Given the description of an element on the screen output the (x, y) to click on. 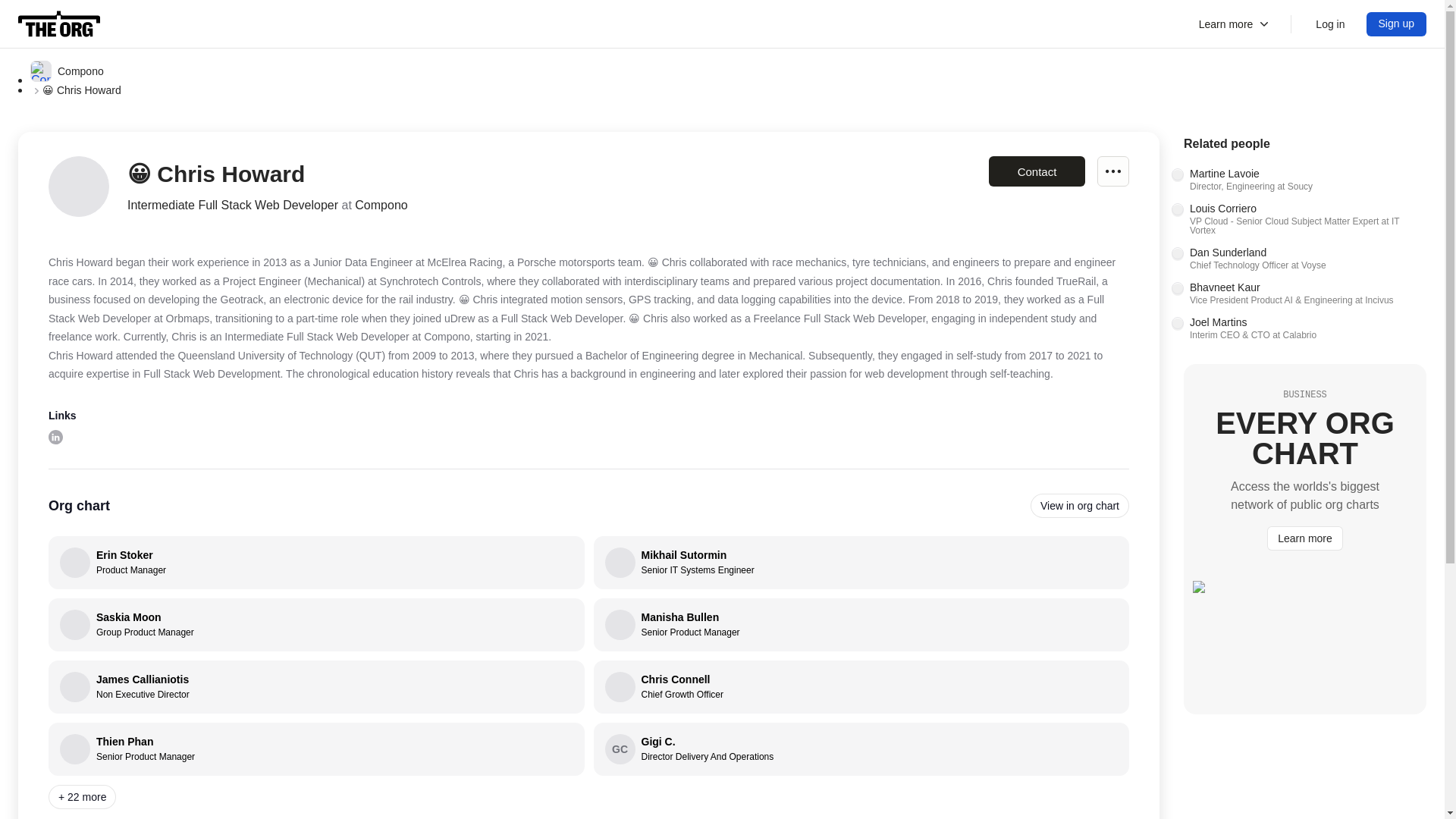
Contact (1304, 258)
Log in to The Org (316, 686)
View on linkedIn (1036, 171)
Sign up to The Org (316, 624)
Join, edit and report menu (1329, 24)
Log in (860, 562)
The Org Home (55, 436)
View in org chart (860, 686)
